Given the description of an element on the screen output the (x, y) to click on. 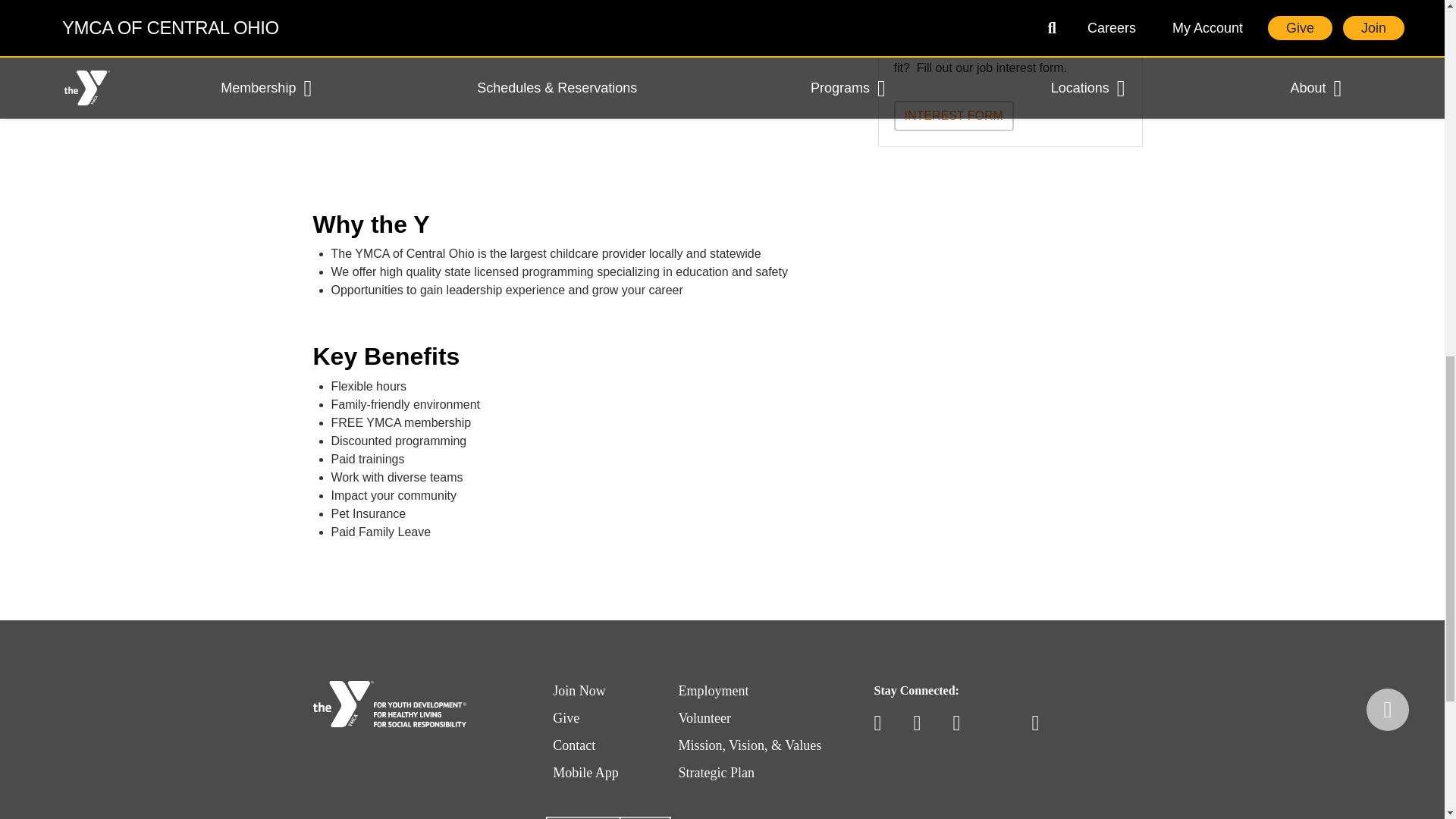
YouTube video player (524, 81)
Go to YMCA of Central Ohio's YouTube (923, 722)
Go to YMCA of Central Ohio's Facebook (884, 722)
Go to YMCA of Central Ohio's TikTok (1002, 722)
Go to YMCA of Central Ohio's Instagram (963, 722)
Go to YMCA of Central Ohio's LinkedIn (1041, 722)
